Given the description of an element on the screen output the (x, y) to click on. 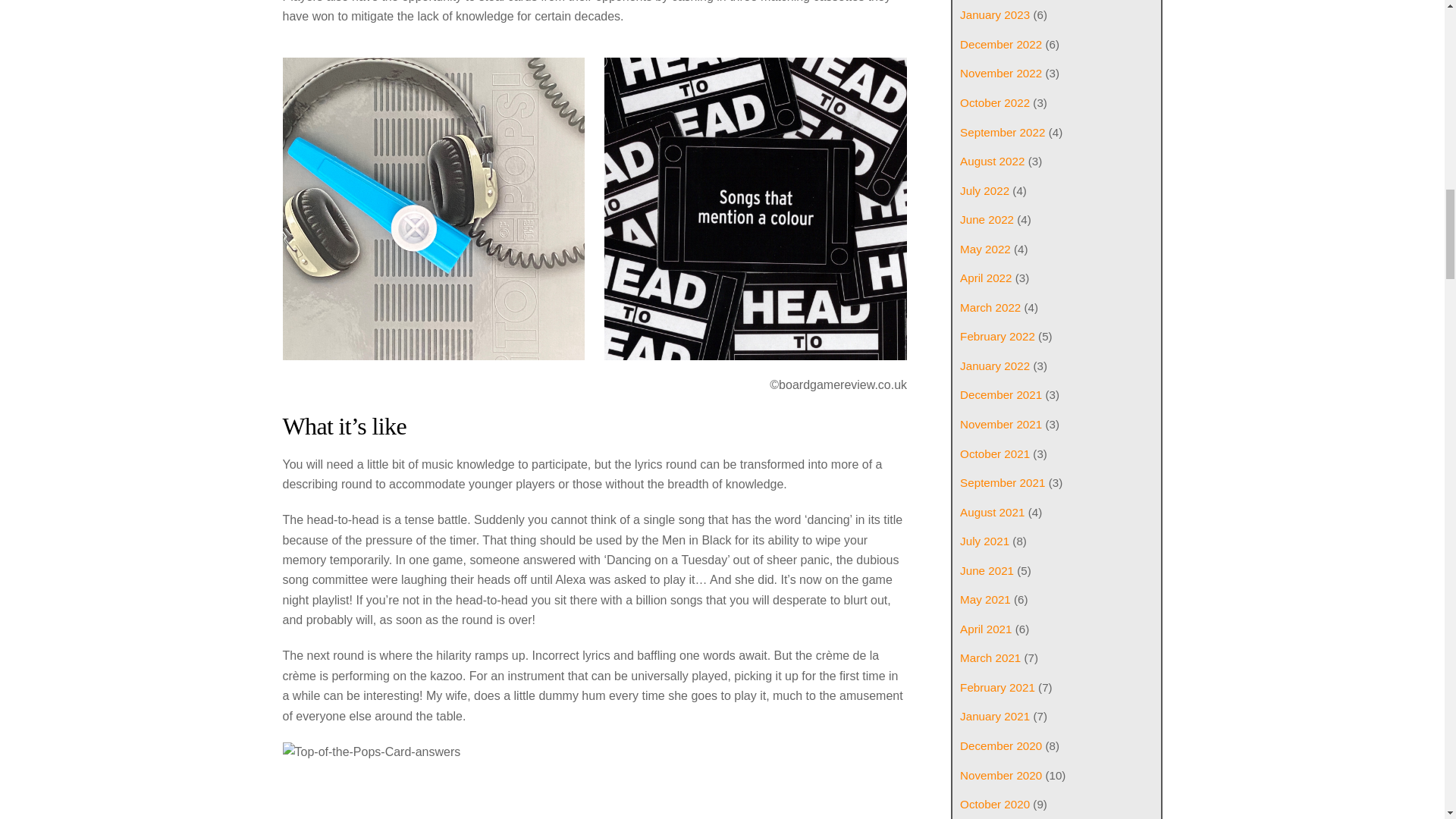
TOTP-Board-and-Kazoo (433, 208)
Top-of-the-Pops-Card-answers (594, 780)
Top-of-The-Pops-Party-Game-Head-to-Head-Cards (755, 208)
